Given the description of an element on the screen output the (x, y) to click on. 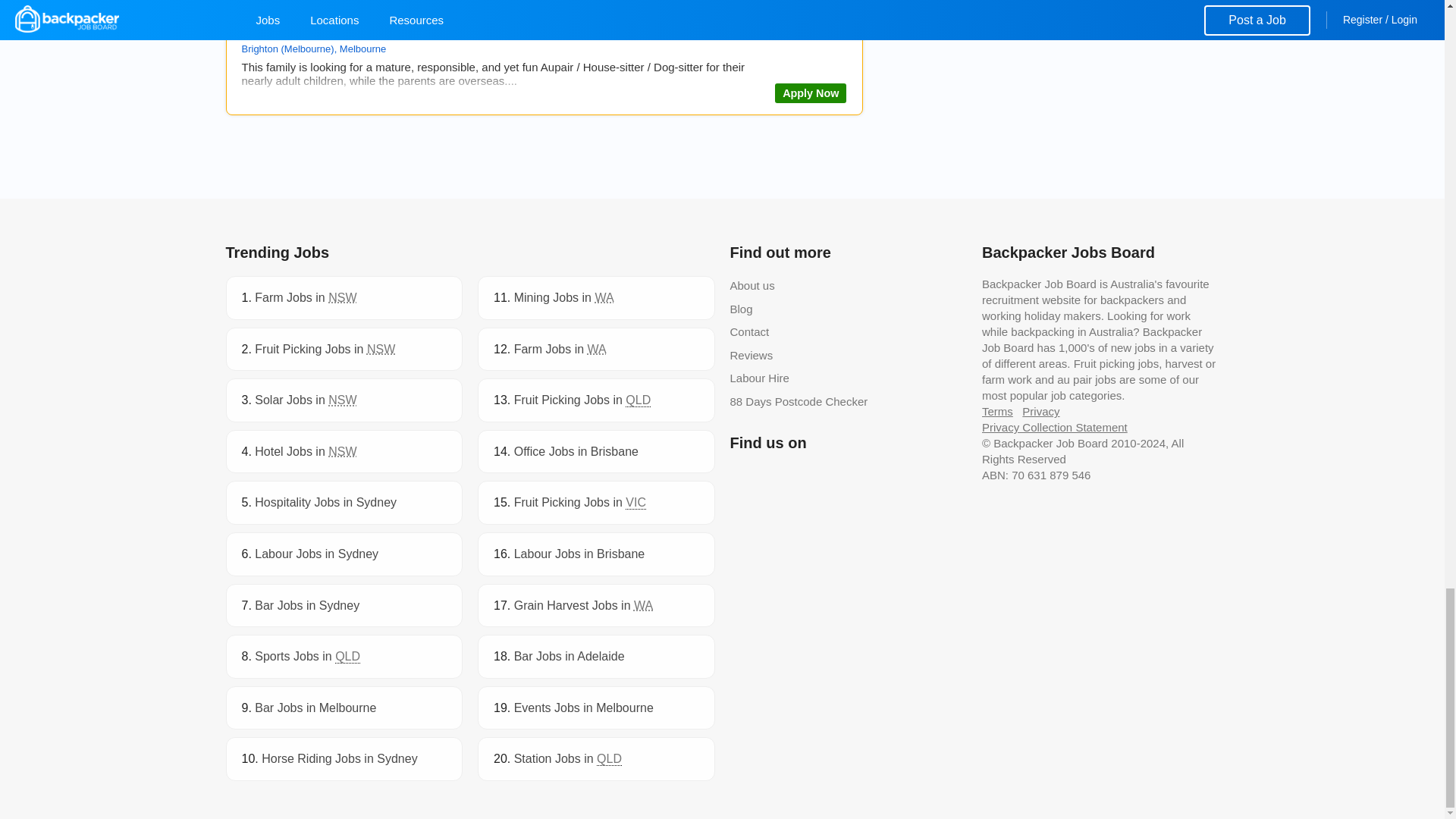
Fruit Picking Jobs in NSW (324, 349)
Farm Jobs in NSW (305, 297)
Apply Now (809, 93)
Solar Jobs in NSW (305, 399)
